Given the description of an element on the screen output the (x, y) to click on. 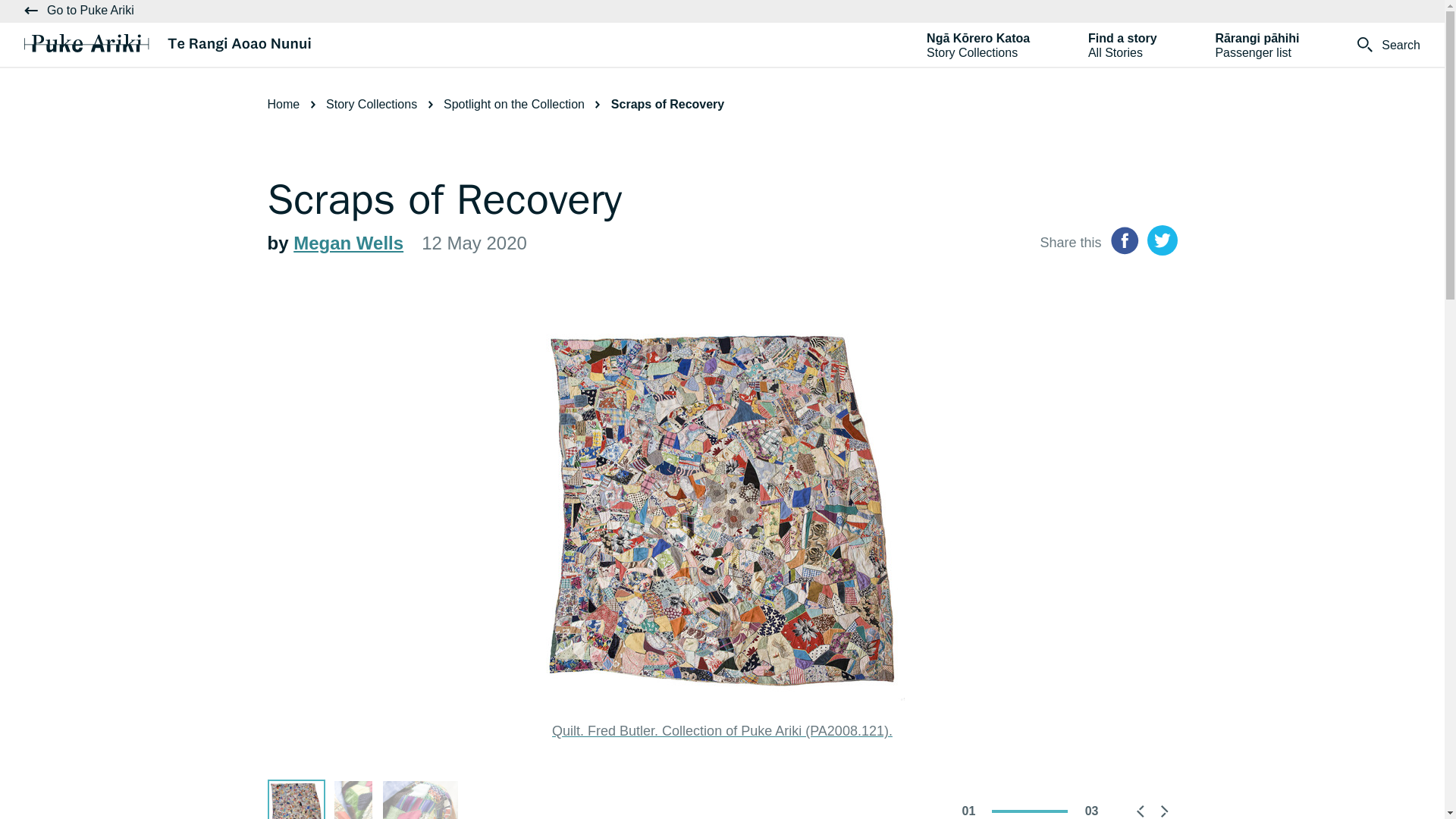
Home (293, 103)
Puke Ariki (167, 42)
Spotlight on the Collection (1122, 45)
Megan Wells (525, 103)
Search (348, 242)
Story Collections (1388, 45)
arrow (78, 10)
